Given the description of an element on the screen output the (x, y) to click on. 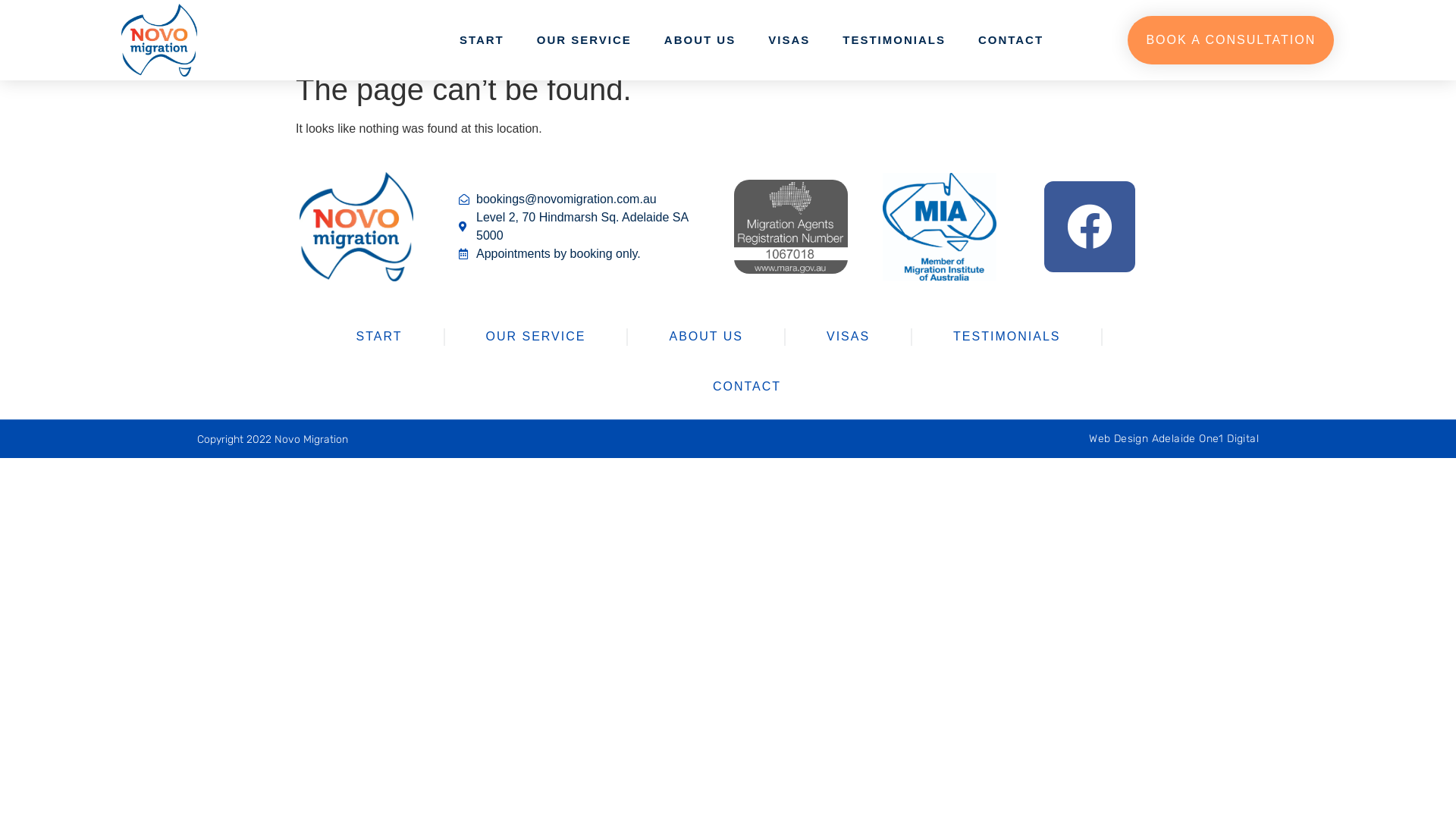
Web Design Adelaide Element type: text (1141, 438)
OUR SERVICE Element type: text (583, 40)
CONTACT Element type: text (746, 386)
BOOK A CONSULTATION Element type: text (1230, 39)
VISAS Element type: text (847, 336)
ABOUT US Element type: text (699, 40)
TESTIMONIALS Element type: text (1006, 336)
ABOUT US Element type: text (705, 336)
OUR SERVICE Element type: text (535, 336)
START Element type: text (379, 336)
CONTACT Element type: text (1010, 40)
bookings@novomigration.com.au Element type: text (584, 199)
TESTIMONIALS Element type: text (893, 40)
START Element type: text (481, 40)
VISAS Element type: text (789, 40)
